Given the description of an element on the screen output the (x, y) to click on. 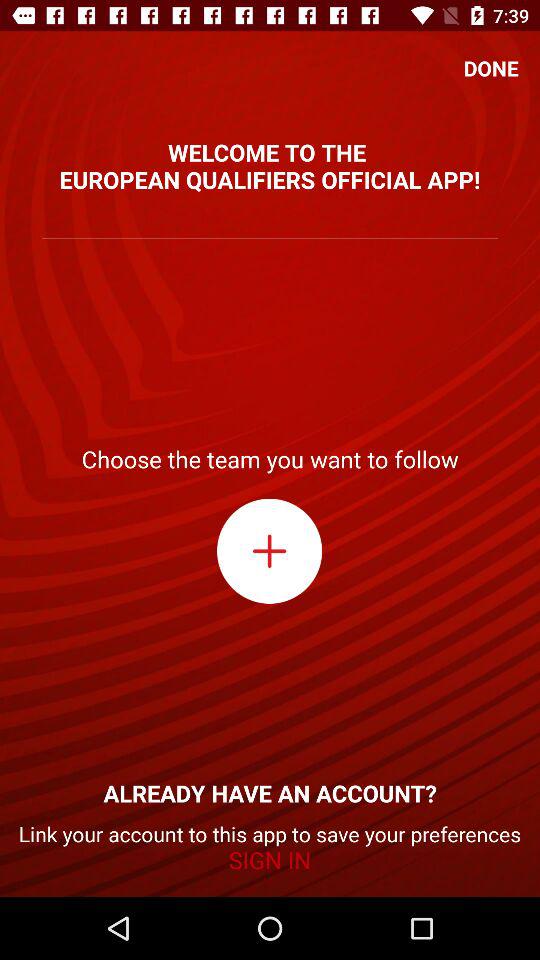
press the icon above the welcome to the item (491, 68)
